Given the description of an element on the screen output the (x, y) to click on. 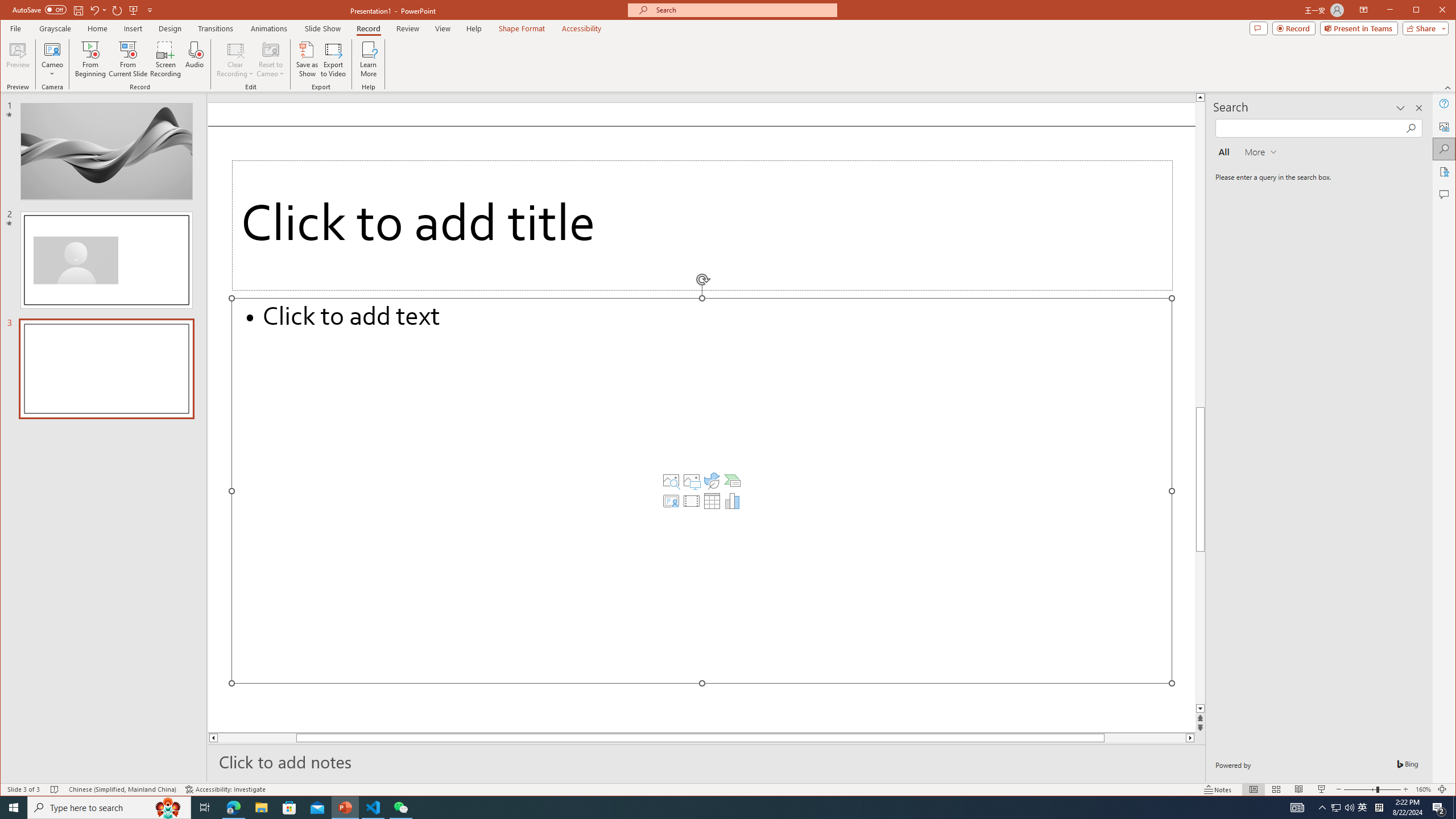
Notification Chevron (1322, 807)
Insert Video (691, 501)
Preview (17, 59)
Insert an Icon (711, 480)
Line down (1200, 709)
Task View (204, 807)
Alt Text (1444, 125)
Insert Cameo (670, 501)
Screen Recording (165, 59)
Search highlights icon opens search home window (167, 807)
Insert Chart (732, 501)
